Given the description of an element on the screen output the (x, y) to click on. 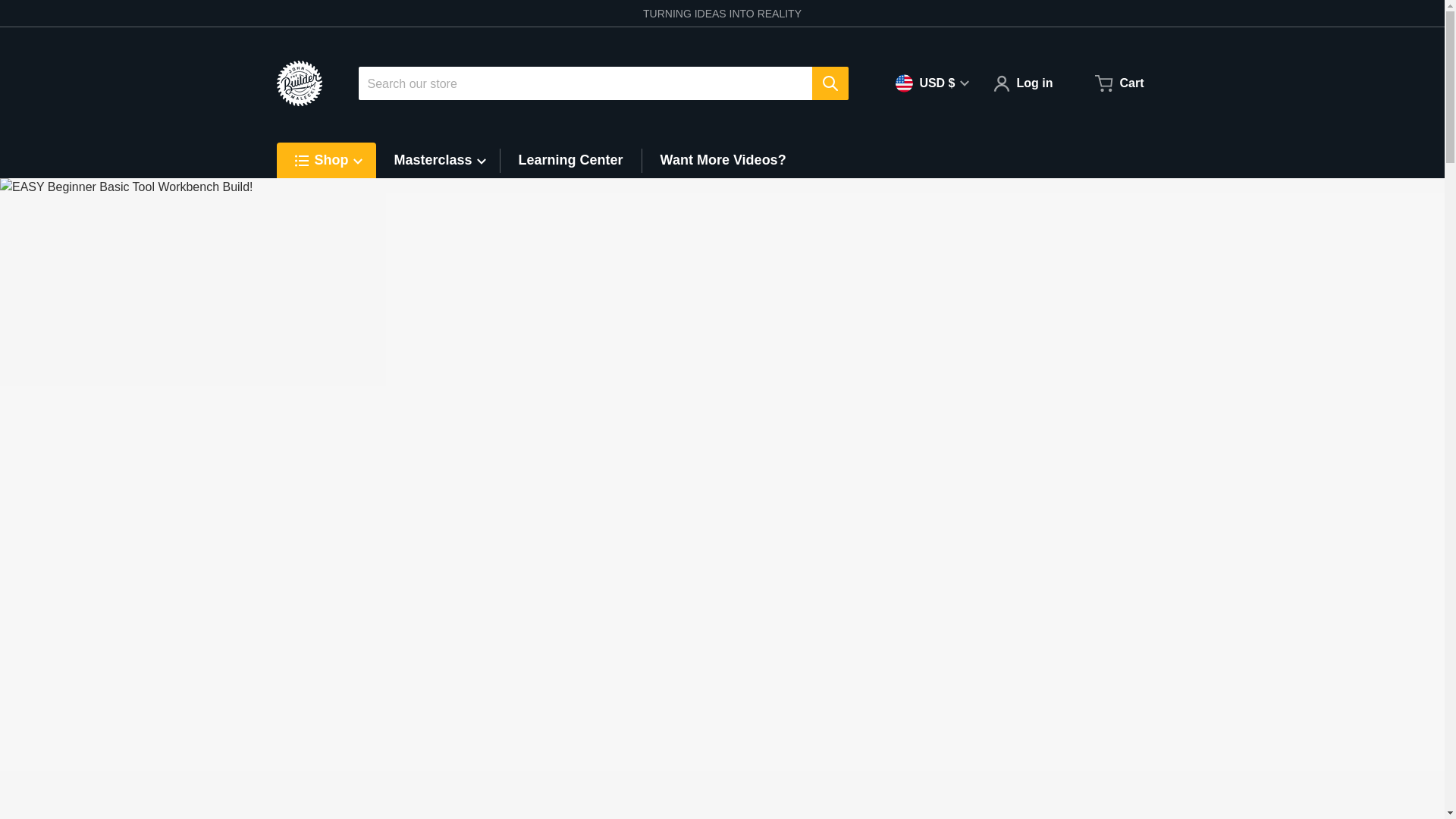
Log in (1022, 83)
Log in (1022, 83)
Cart (1118, 83)
Skip to content (48, 6)
Shop (335, 159)
Cart (1118, 83)
